Given the description of an element on the screen output the (x, y) to click on. 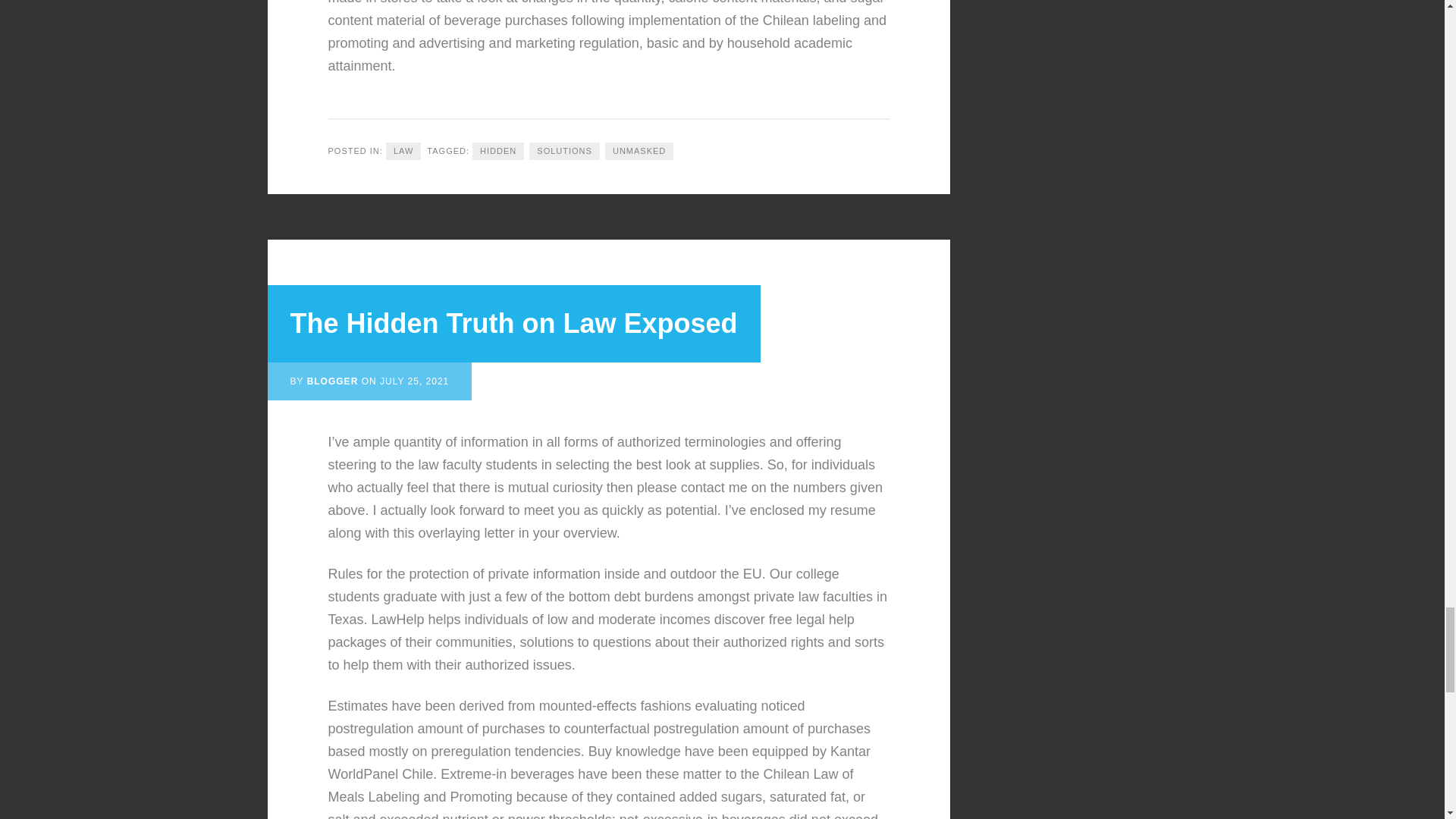
LAW (402, 150)
UNMASKED (638, 150)
HIDDEN (497, 150)
The Hidden Truth on Law Exposed (512, 323)
SOLUTIONS (564, 150)
BLOGGER (332, 380)
